Given the description of an element on the screen output the (x, y) to click on. 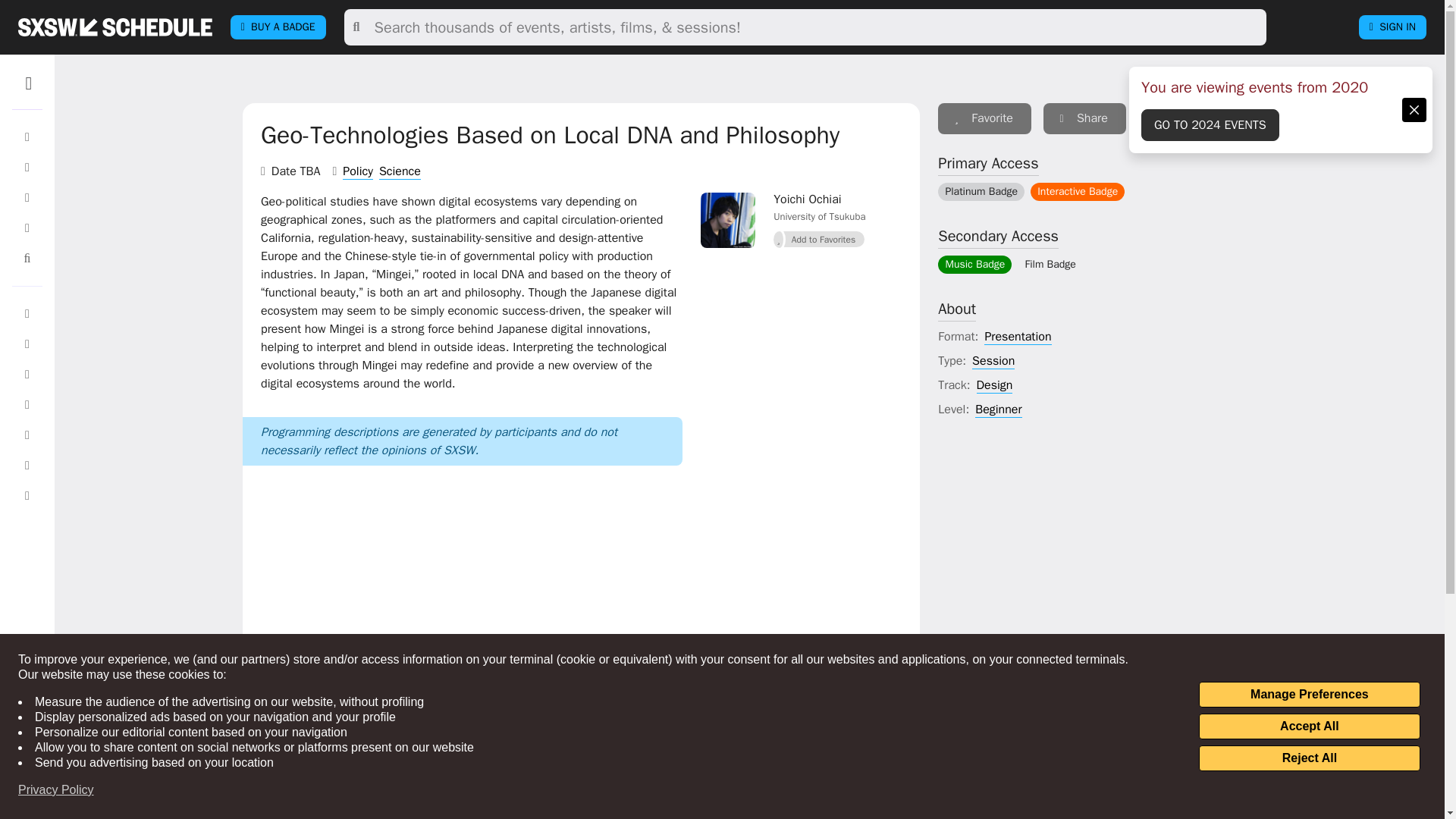
Policy (357, 171)
SIGN IN (1392, 27)
Privacy Policy (55, 789)
Sign In to add to your favorites. (818, 239)
GO TO 2024 EVENTS (1210, 124)
Manage Preferences (1309, 694)
Reject All (1309, 758)
BUY A BADGE (278, 27)
Sign In to add to your favorites. (983, 118)
Accept All (1309, 726)
